Given the description of an element on the screen output the (x, y) to click on. 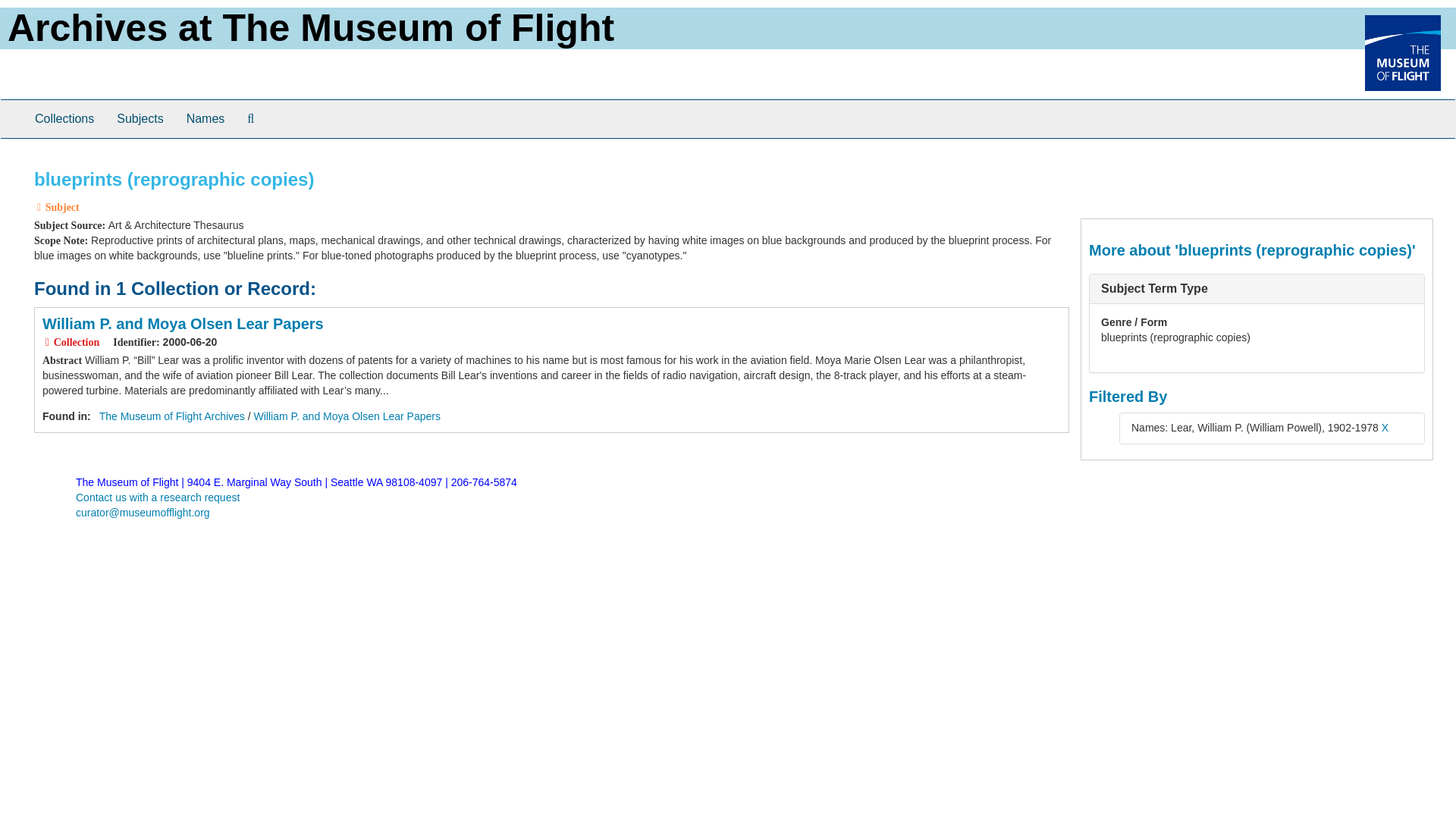
Archives at The Museum of Flight (310, 27)
Collections (63, 118)
The Museum of Flight Archives (171, 416)
Subjects (139, 118)
Contact us with a research request (157, 497)
Names (204, 118)
Page Actions (1139, 161)
William P. and Moya Olsen Lear Papers (347, 416)
William P. and Moya Olsen Lear Papers (182, 323)
Subject Term Type (1154, 287)
